Given the description of an element on the screen output the (x, y) to click on. 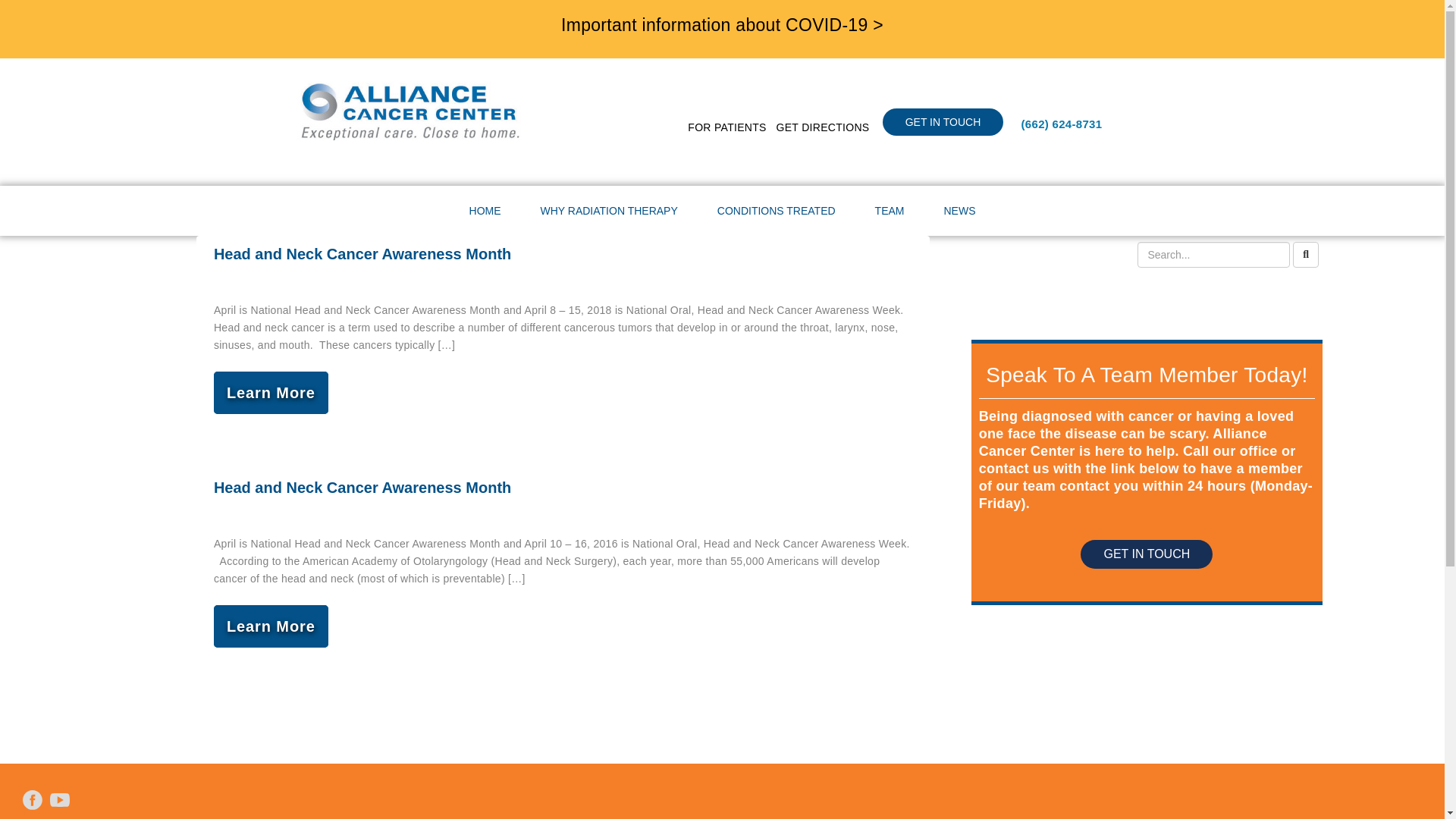
Facebook (32, 799)
FOR PATIENTS (726, 127)
CONDITIONS TREATED (776, 210)
WHY RADIATION THERAPY (609, 210)
alliancejoplin (409, 110)
TEAM (890, 210)
GET DIRECTIONS (822, 127)
Youtube (60, 799)
GET IN TOUCH (943, 121)
HOME (485, 210)
